Given the description of an element on the screen output the (x, y) to click on. 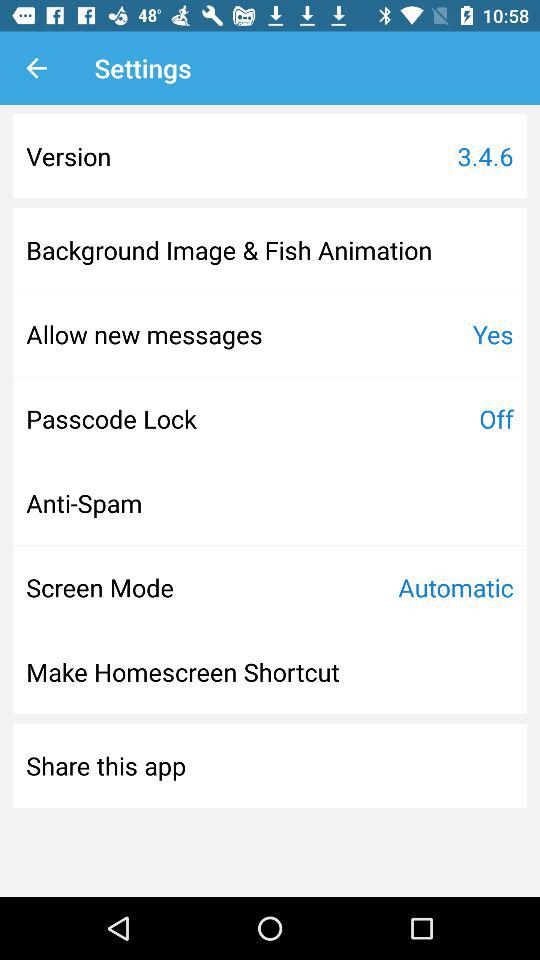
tap the item above the make homescreen shortcut item (100, 587)
